Given the description of an element on the screen output the (x, y) to click on. 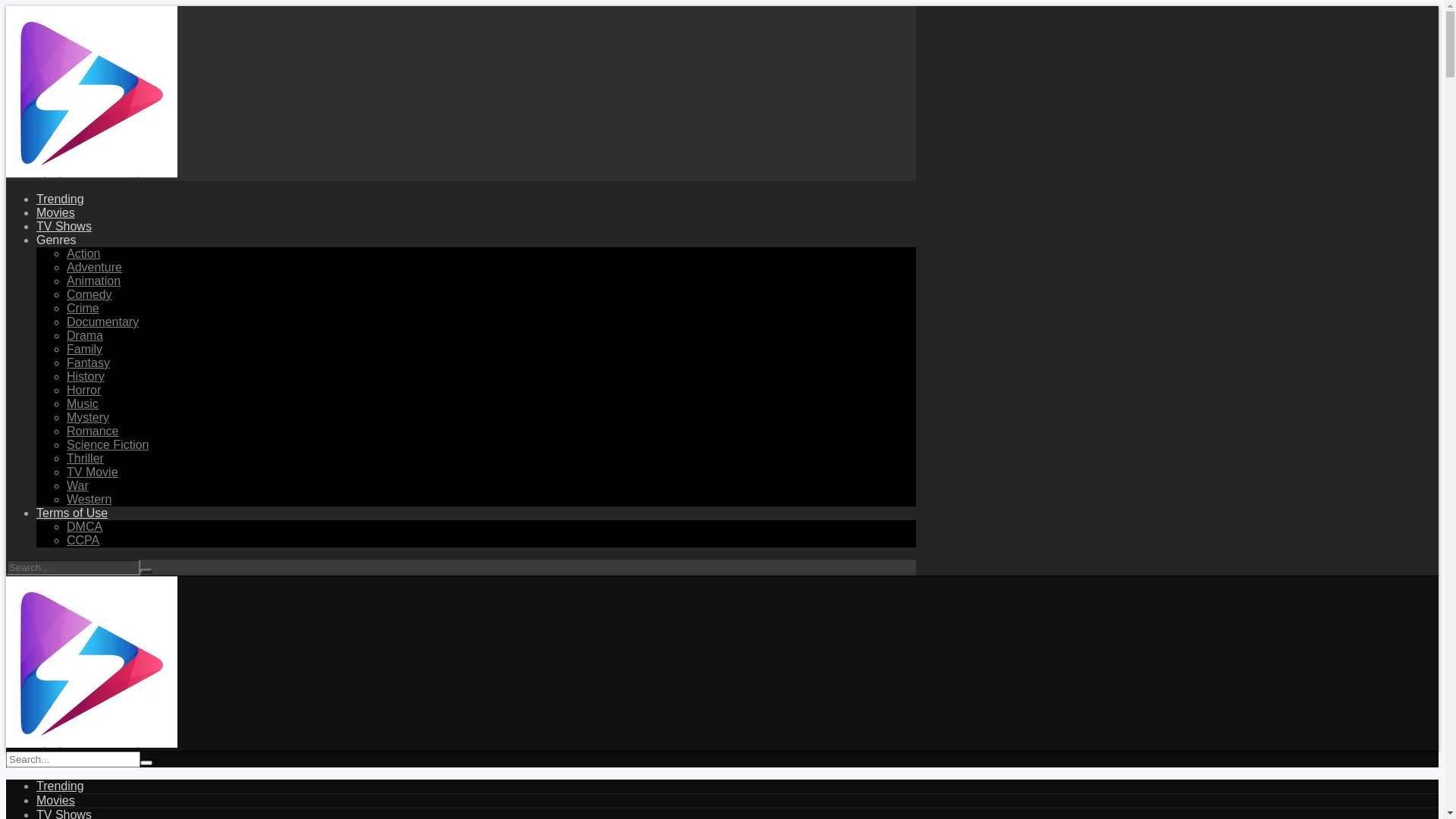
Adventure Element type: text (94, 266)
Movies Element type: text (55, 212)
War Element type: text (77, 485)
DMCA Element type: text (84, 526)
Documentary Element type: text (102, 321)
History Element type: text (85, 376)
Crime Element type: text (82, 307)
Animation Element type: text (93, 280)
Thriller Element type: text (84, 457)
Fantasy Element type: text (87, 362)
Western Element type: text (88, 498)
Genres Element type: text (55, 239)
Horror Element type: text (83, 389)
Music Element type: text (82, 403)
Trending Element type: text (60, 198)
Family Element type: text (84, 348)
CCPA Element type: text (82, 539)
TV Movie Element type: text (92, 471)
Action Element type: text (83, 253)
Movies Element type: text (55, 799)
Trending Element type: text (60, 785)
Mystery Element type: text (87, 417)
Romance Element type: text (92, 430)
Comedy Element type: text (89, 294)
Drama Element type: text (84, 335)
Science Fiction Element type: text (107, 444)
Terms of Use Element type: text (71, 512)
TV Shows Element type: text (63, 225)
